Given the description of an element on the screen output the (x, y) to click on. 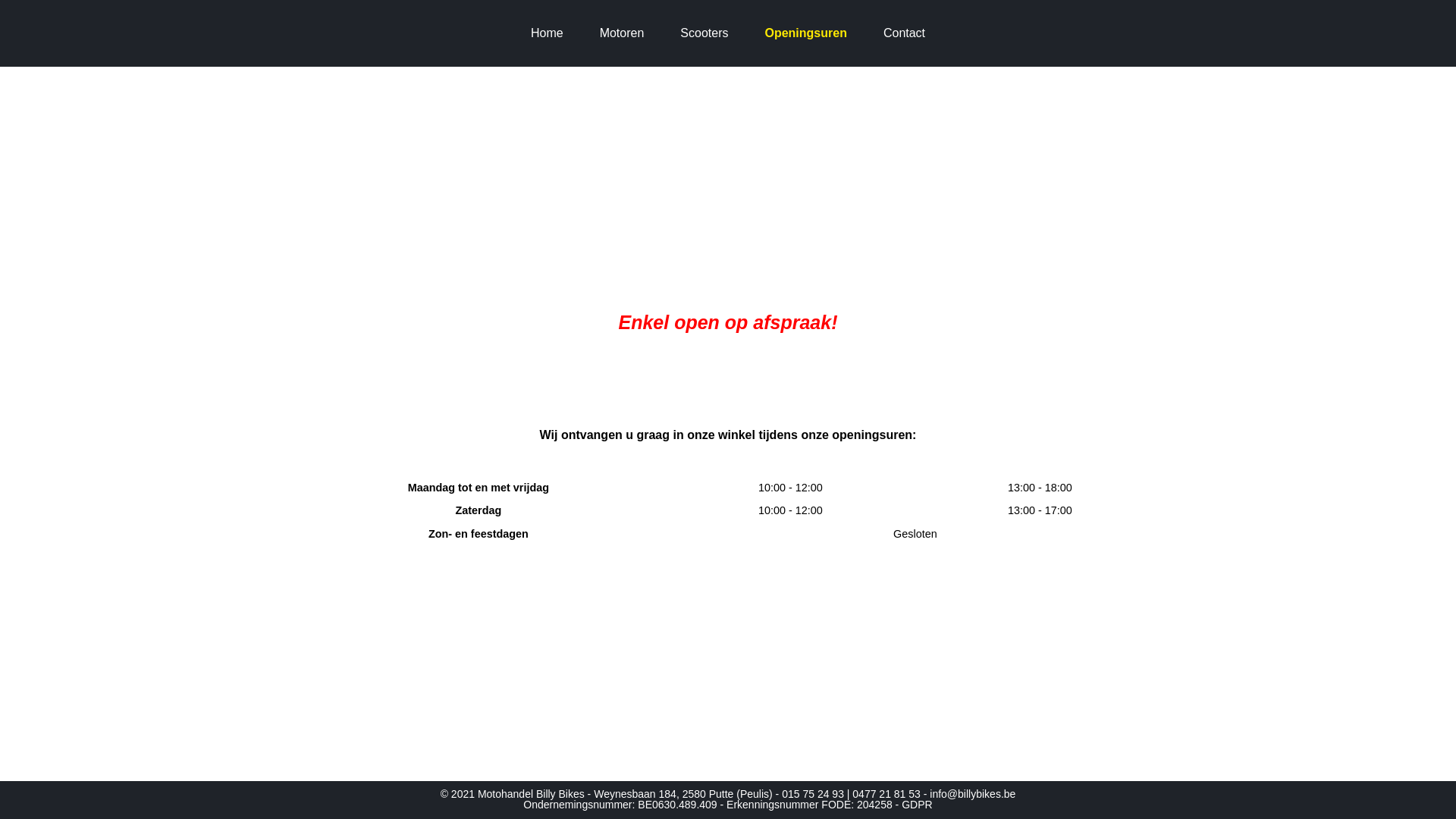
Motoren Element type: text (622, 33)
Scooters Element type: text (703, 33)
GDPR Element type: text (916, 804)
Home Element type: text (547, 33)
Contact Element type: text (903, 33)
Openingsuren Element type: text (804, 33)
